Given the description of an element on the screen output the (x, y) to click on. 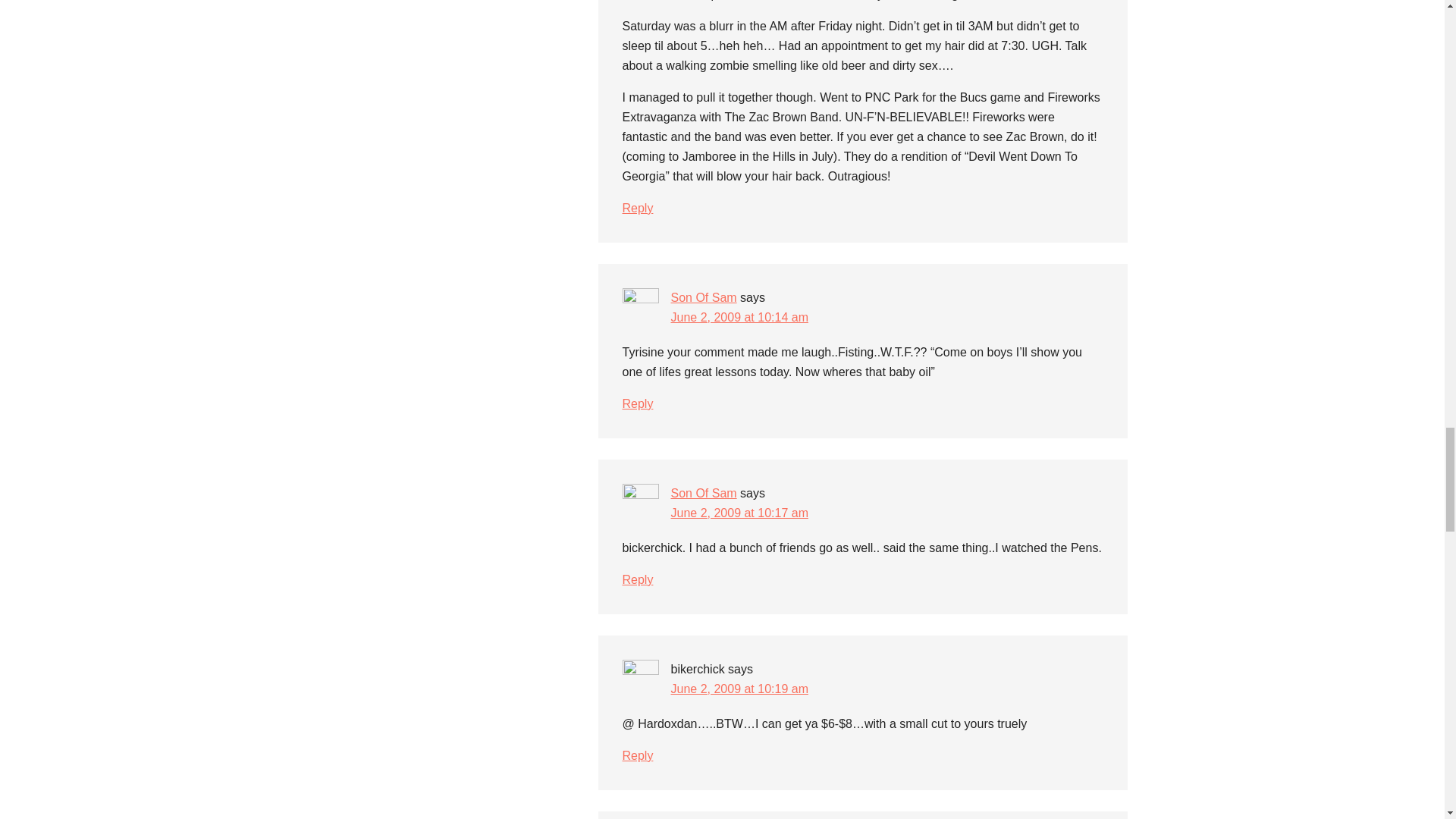
Son Of Sam (702, 297)
Reply (636, 403)
Reply (636, 579)
Reply (636, 755)
June 2, 2009 at 10:14 am (738, 317)
June 2, 2009 at 10:17 am (738, 512)
June 2, 2009 at 10:19 am (738, 688)
Son Of Sam (702, 492)
Reply (636, 207)
